Given the description of an element on the screen output the (x, y) to click on. 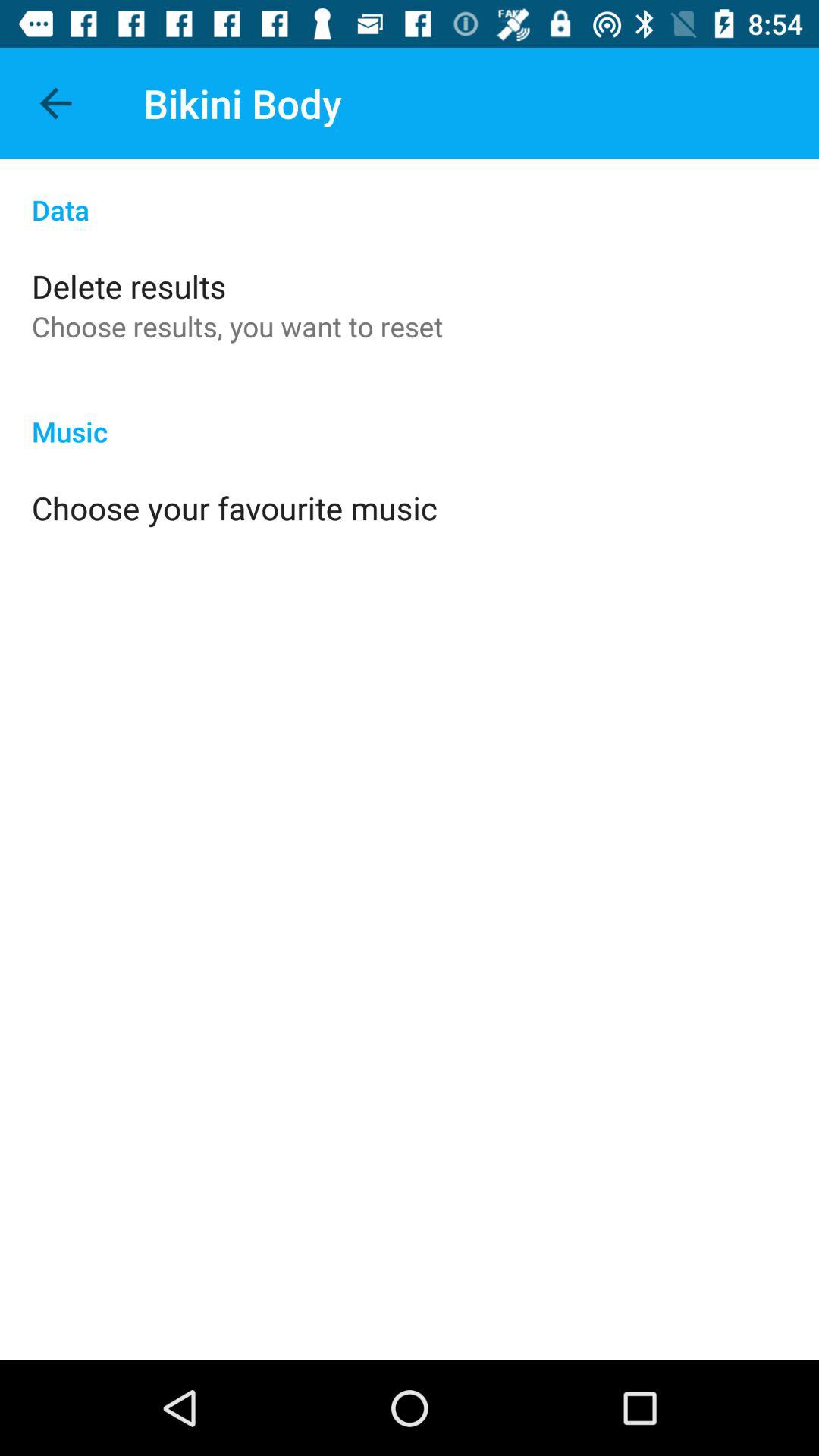
tap the app next to bikini body item (55, 103)
